Given the description of an element on the screen output the (x, y) to click on. 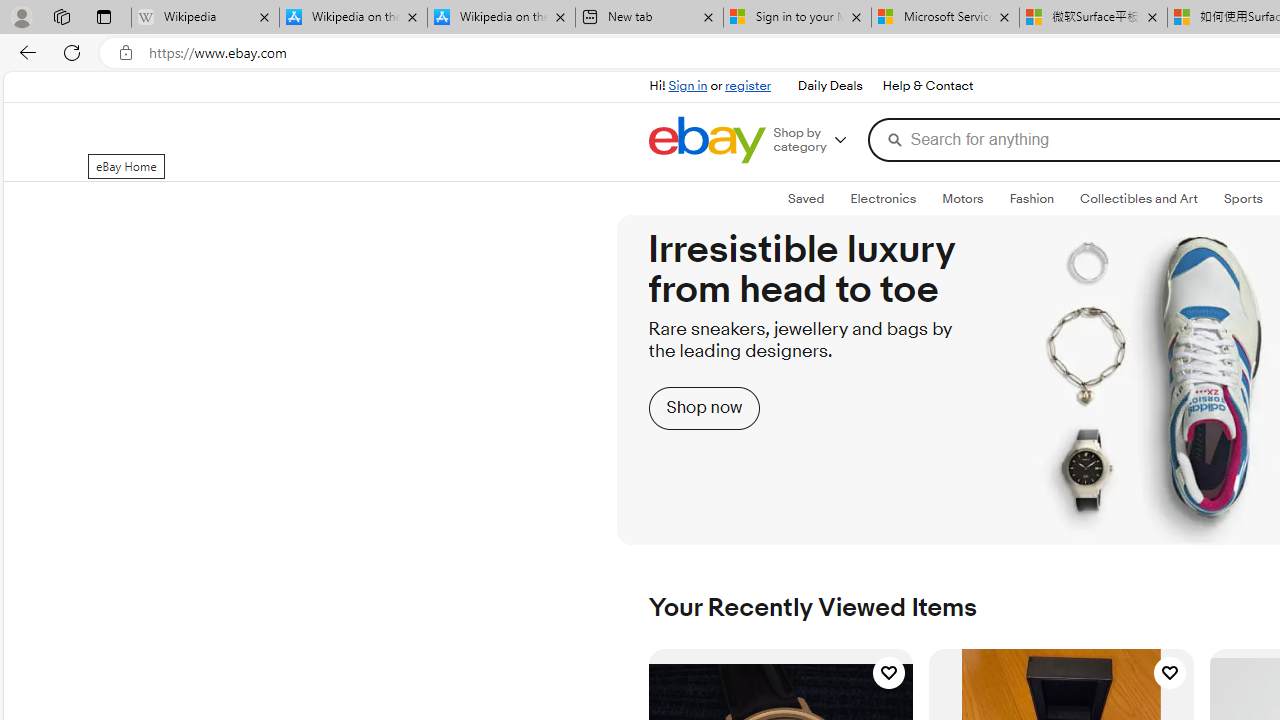
Help & Contact (926, 85)
Collectibles and ArtExpand: Collectibles and Art (1138, 199)
Electronics (882, 198)
Fashion (1031, 198)
Help & Contact (927, 86)
Collectibles and Art (1139, 198)
Saved (806, 198)
Shop by category (816, 140)
